Given the description of an element on the screen output the (x, y) to click on. 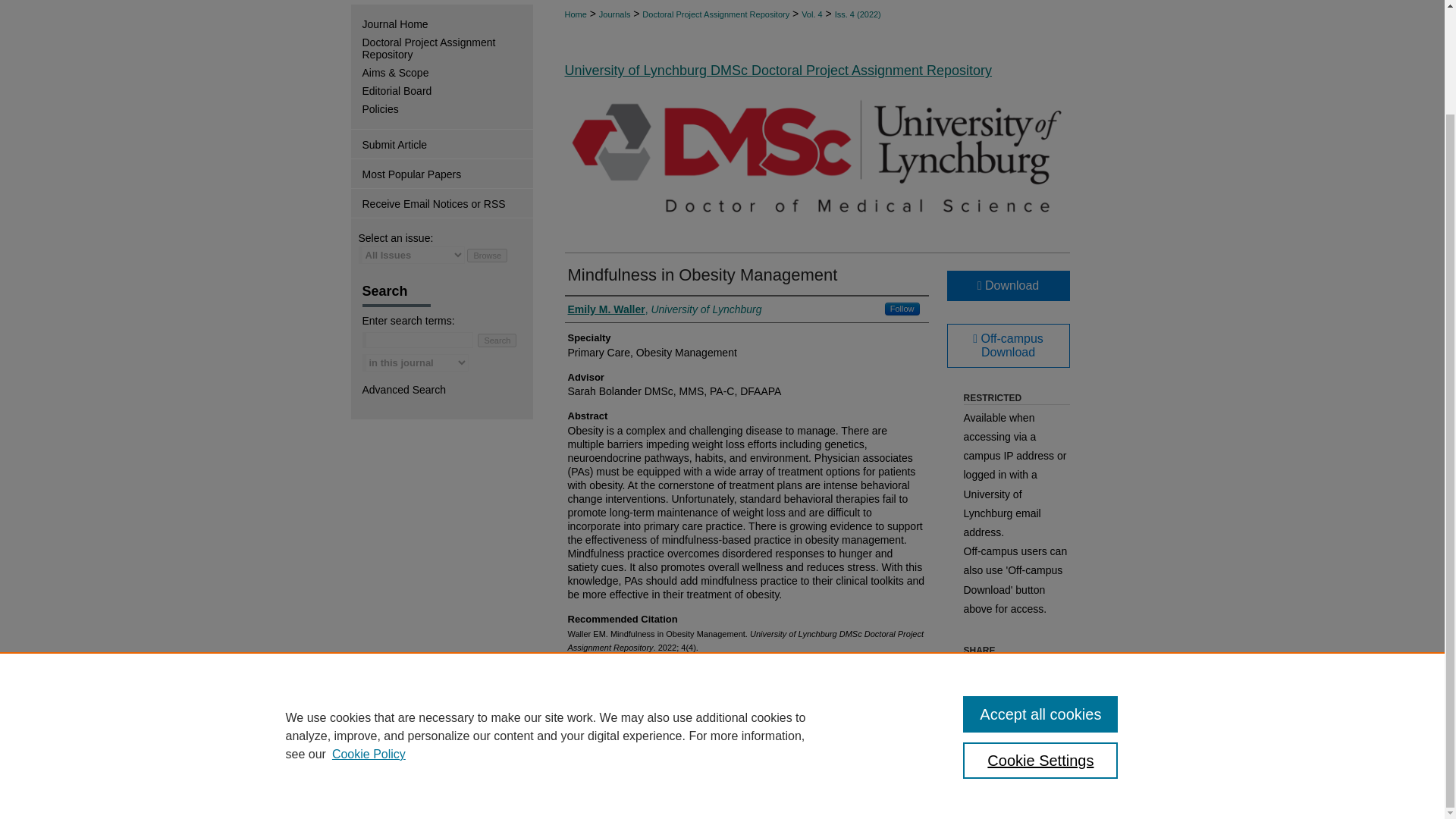
Email (1037, 674)
Download (1007, 286)
Facebook (973, 674)
Doctoral Project Assignment Repository (715, 13)
Submit Article (441, 143)
Share (1058, 674)
Policies (447, 109)
LinkedIn (995, 674)
Home (575, 13)
Vol. 4 (812, 13)
Browse (486, 255)
Receive Email Notices or RSS (441, 203)
Emily M. Waller, University of Lynchburg (664, 309)
